Given the description of an element on the screen output the (x, y) to click on. 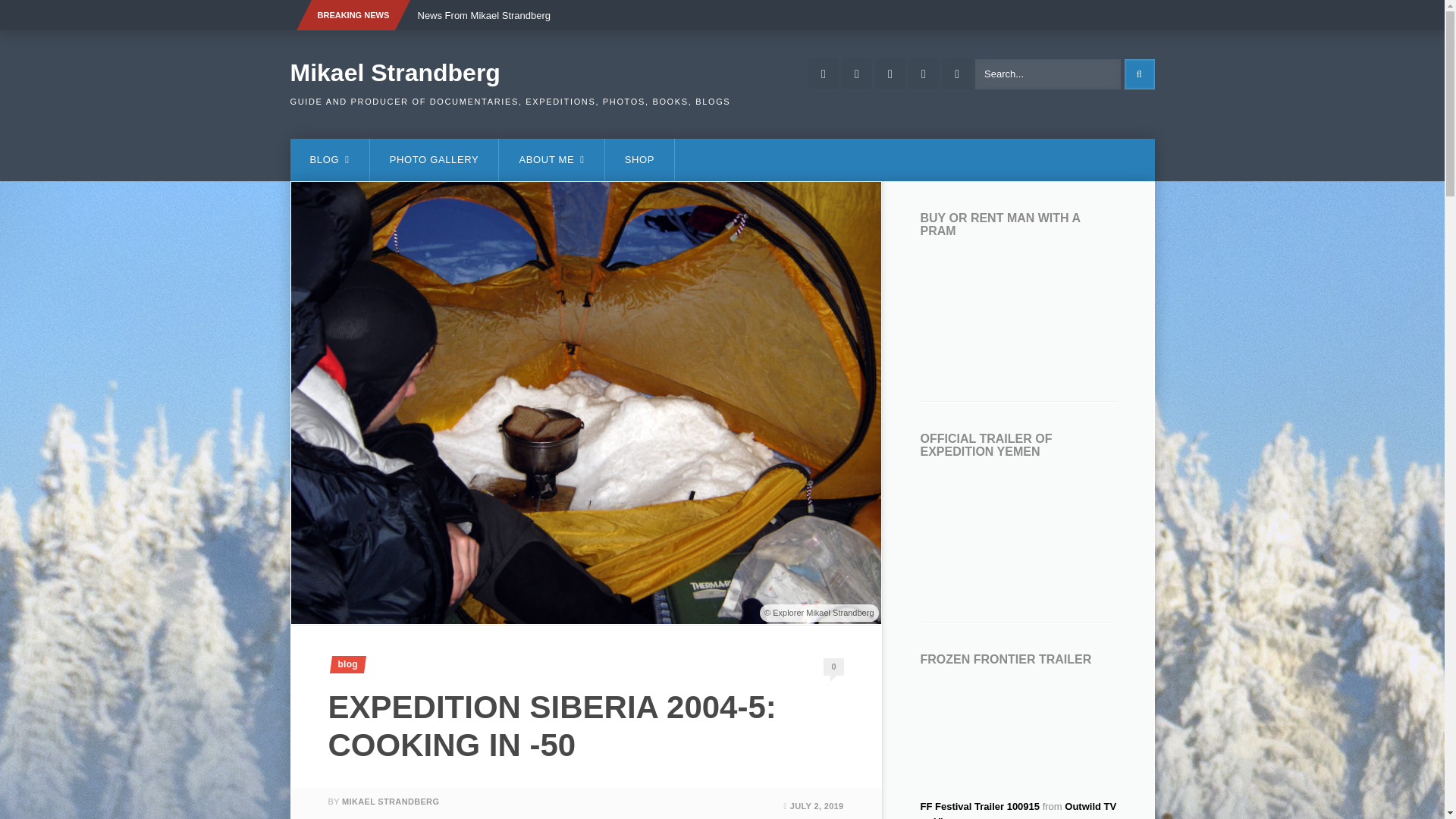
News From Mikael Strandberg (484, 15)
PHOTO GALLERY (434, 159)
View all posts by Mikael Strandberg (390, 800)
BLOG (329, 159)
Facebook (823, 73)
SEARCH (1139, 73)
ABOUT ME (551, 159)
Mikael Strandberg (394, 72)
LinkedIn (957, 73)
Youtube (856, 73)
